Given the description of an element on the screen output the (x, y) to click on. 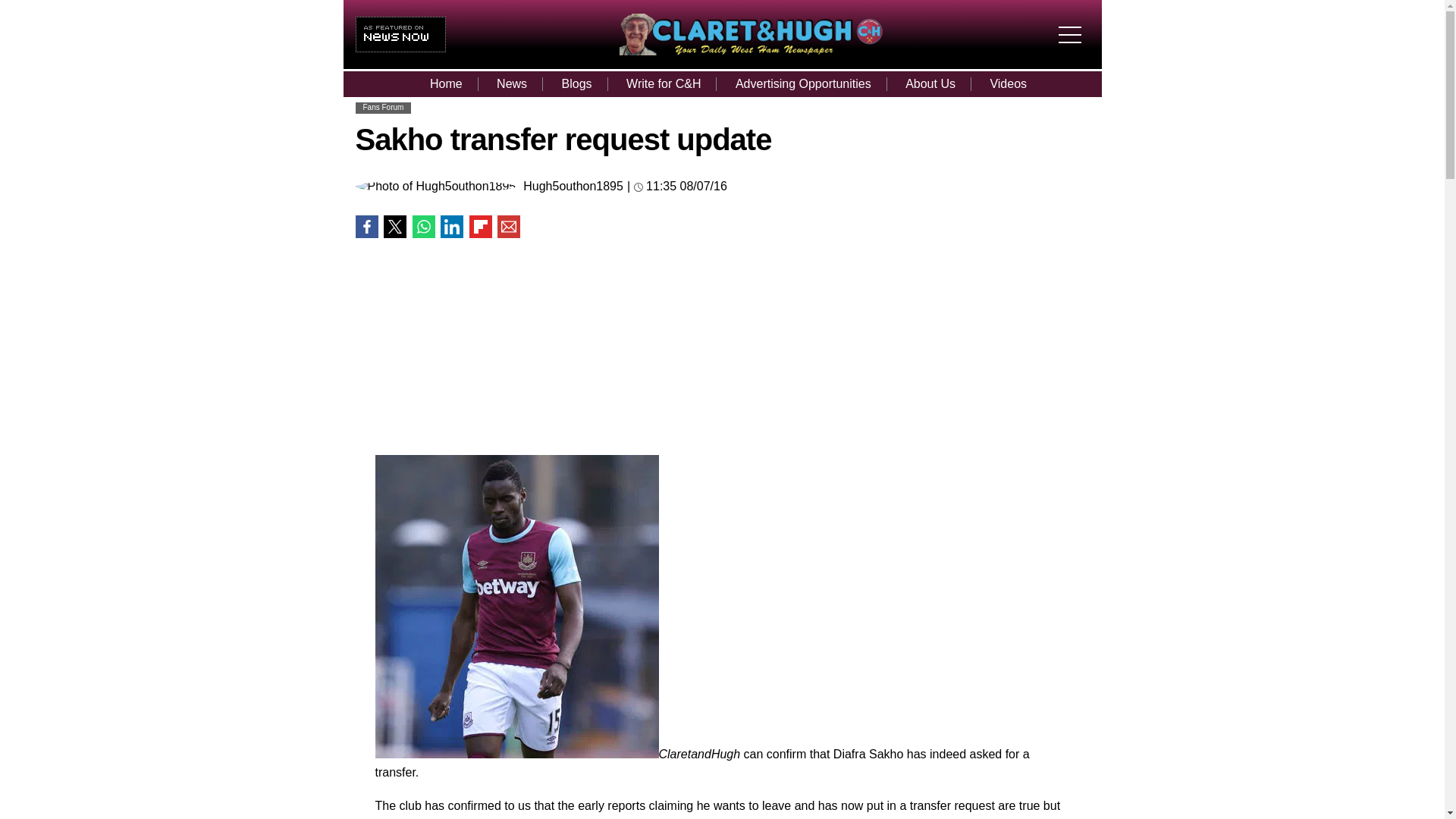
Hugh5outhon1895 (572, 186)
Back to the homepage (750, 51)
News (511, 83)
Fans Forum (382, 107)
About Us (930, 83)
Home (445, 83)
Advertising Opportunities (803, 83)
share on LinkedIn (452, 226)
Videos (1008, 83)
share on Twitter (395, 226)
